Given the description of an element on the screen output the (x, y) to click on. 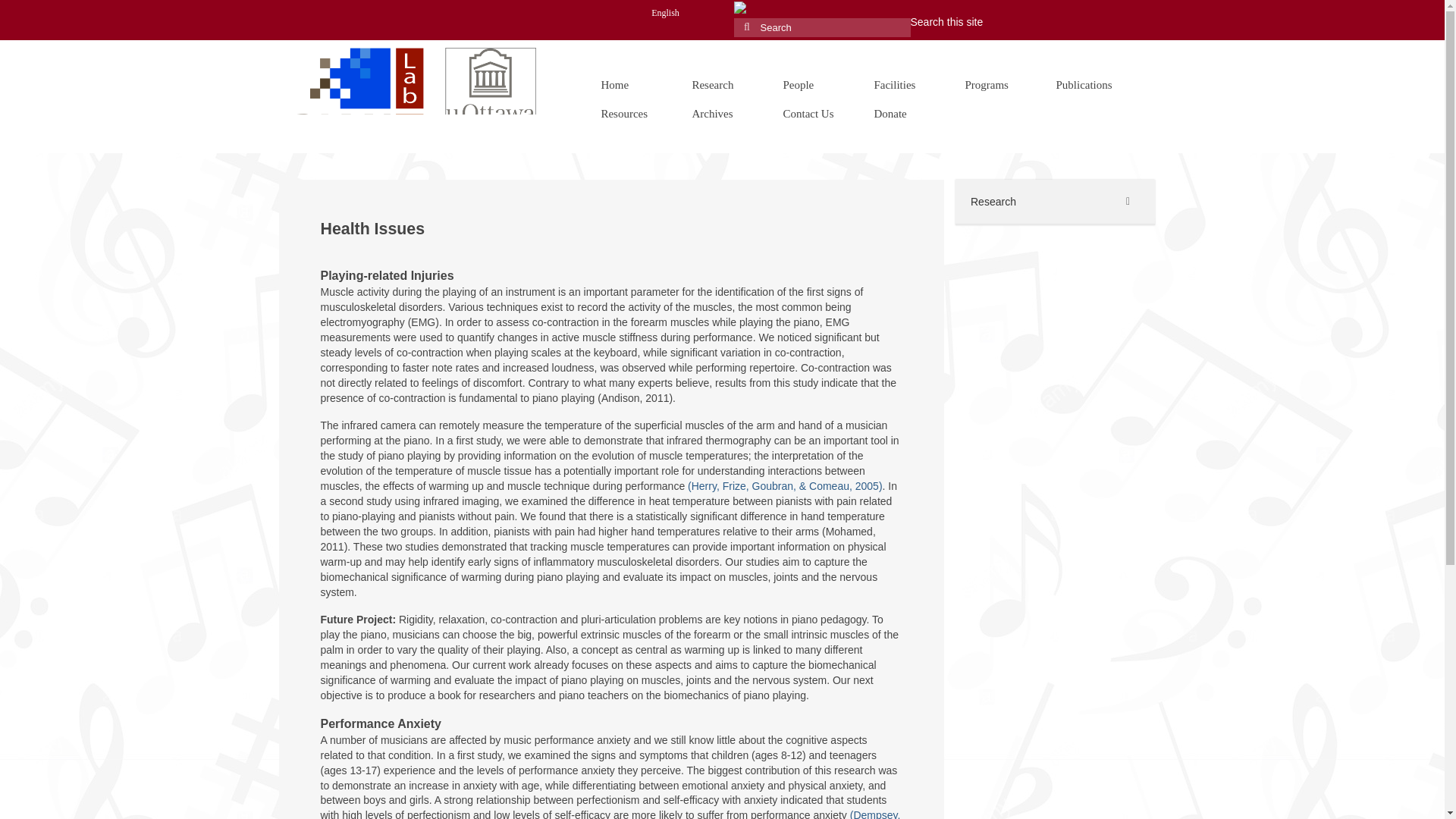
Facilities (904, 84)
Programs (995, 84)
Publications (1086, 84)
English (665, 12)
Home (631, 84)
Research (722, 84)
People (813, 84)
